Given the description of an element on the screen output the (x, y) to click on. 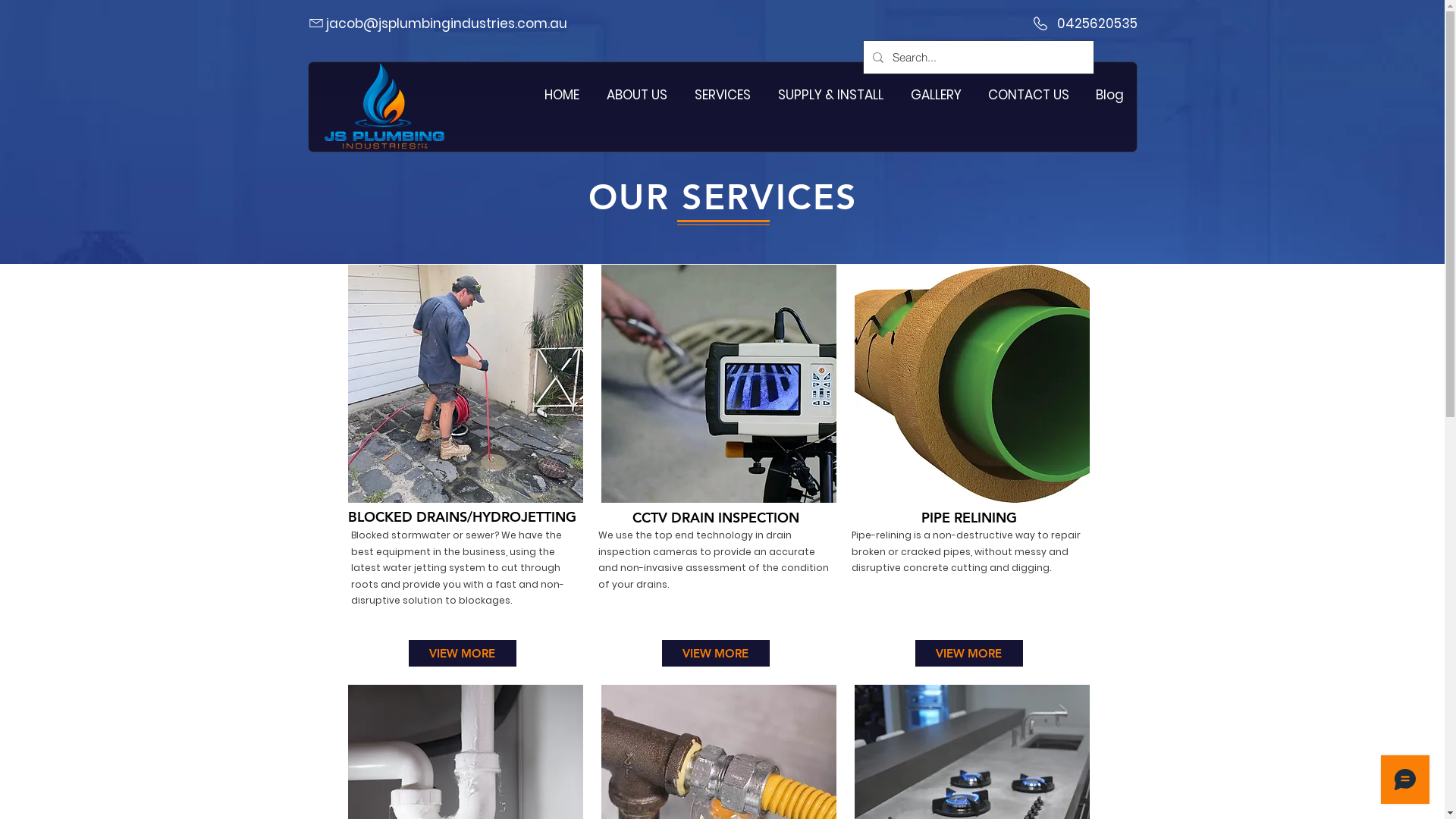
VIEW MORE Element type: text (968, 653)
3Dlogo white.png Element type: hover (384, 107)
Blog Element type: text (1109, 95)
VIEW MORE Element type: text (461, 653)
SERVICES Element type: text (722, 95)
jacob@jsplumbingindustries.com.au Element type: text (446, 23)
0425620535 Element type: text (1097, 23)
GALLERY Element type: text (935, 95)
CONTACT US Element type: text (1028, 95)
HOME Element type: text (561, 95)
VIEW MORE Element type: text (714, 653)
ABOUT US Element type: text (636, 95)
SUPPLY & INSTALL Element type: text (830, 95)
